Given the description of an element on the screen output the (x, y) to click on. 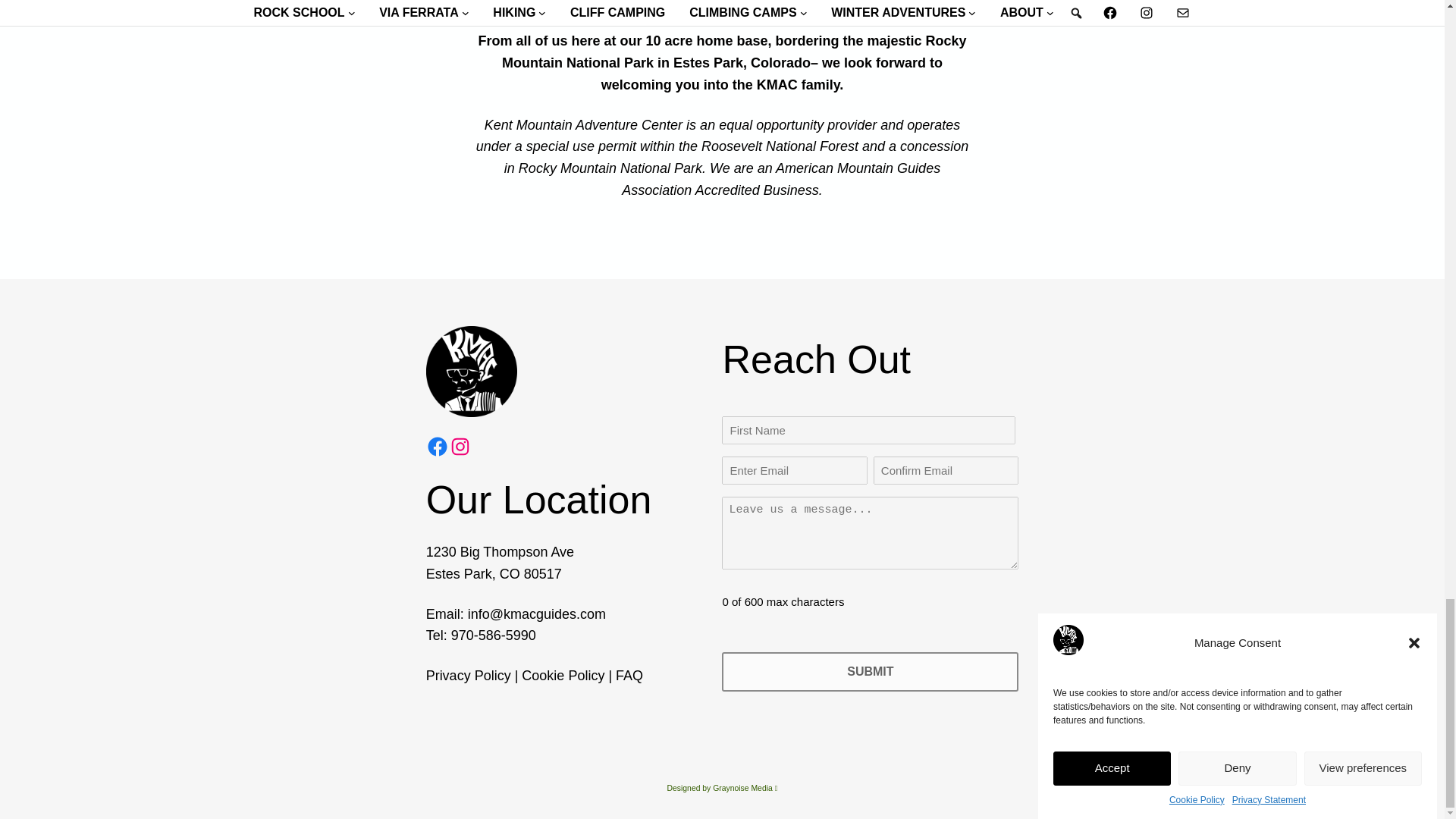
Submit (869, 671)
